Given the description of an element on the screen output the (x, y) to click on. 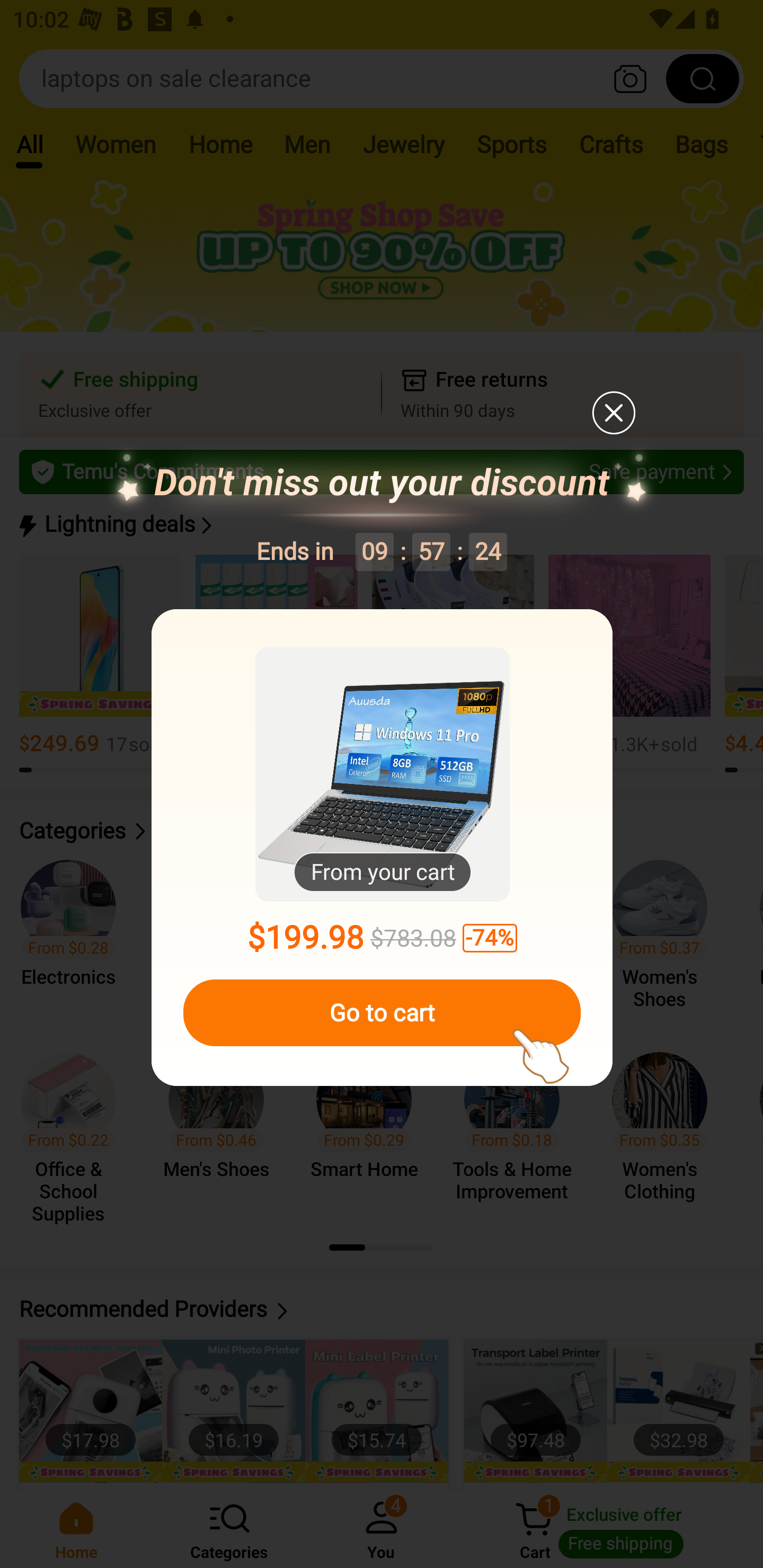
 (612, 412)
From your cart $199.98 $783.08 -74% Go to cart (381, 847)
Go to cart (381, 1012)
